Given the description of an element on the screen output the (x, y) to click on. 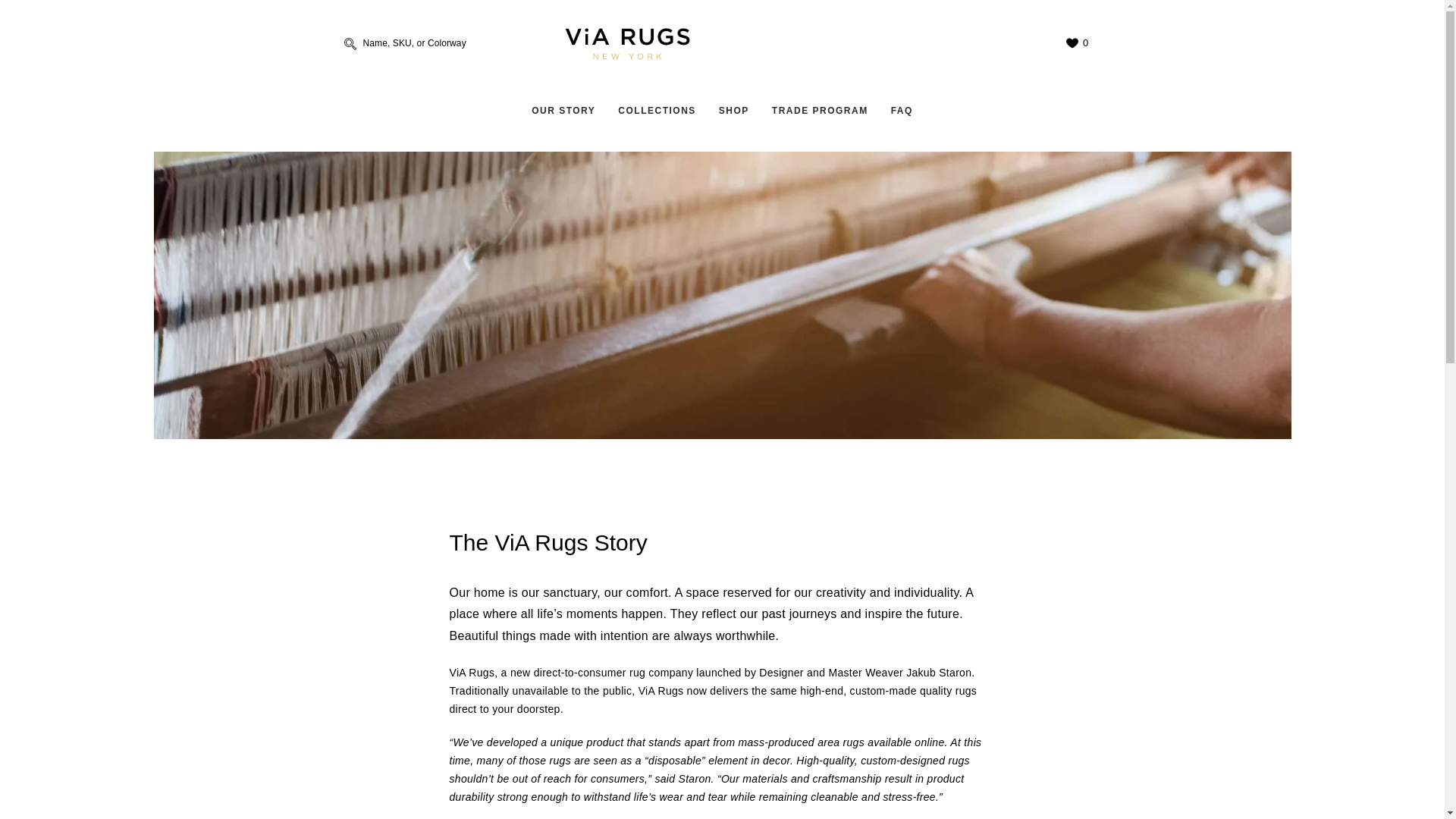
COLLECTIONS (657, 110)
0 (1071, 42)
FAQ (901, 110)
OUR STORY (563, 110)
SHOP (733, 110)
TRADE PROGRAM (819, 110)
